Given the description of an element on the screen output the (x, y) to click on. 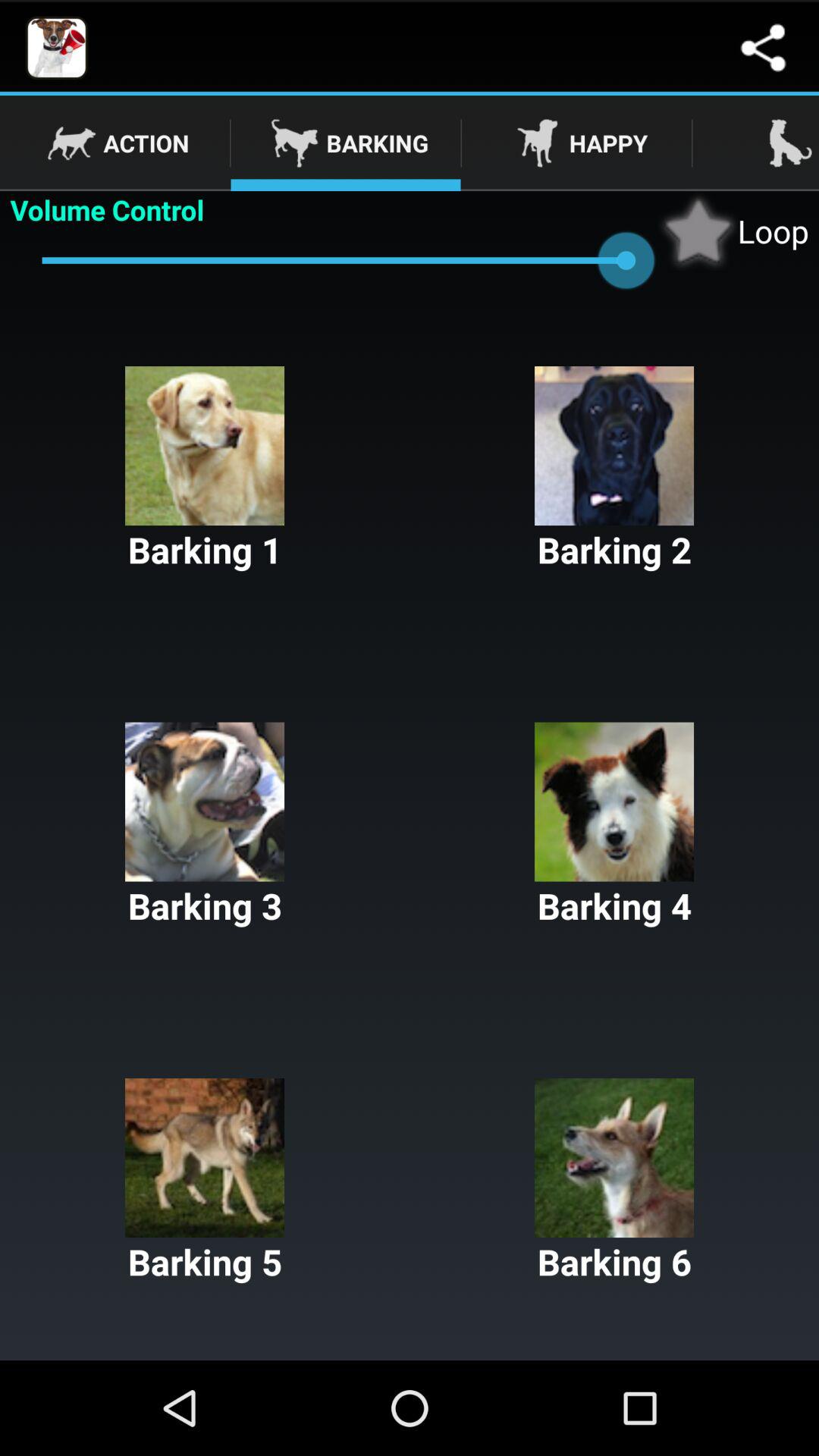
tap the button at the bottom right corner (614, 1181)
